Given the description of an element on the screen output the (x, y) to click on. 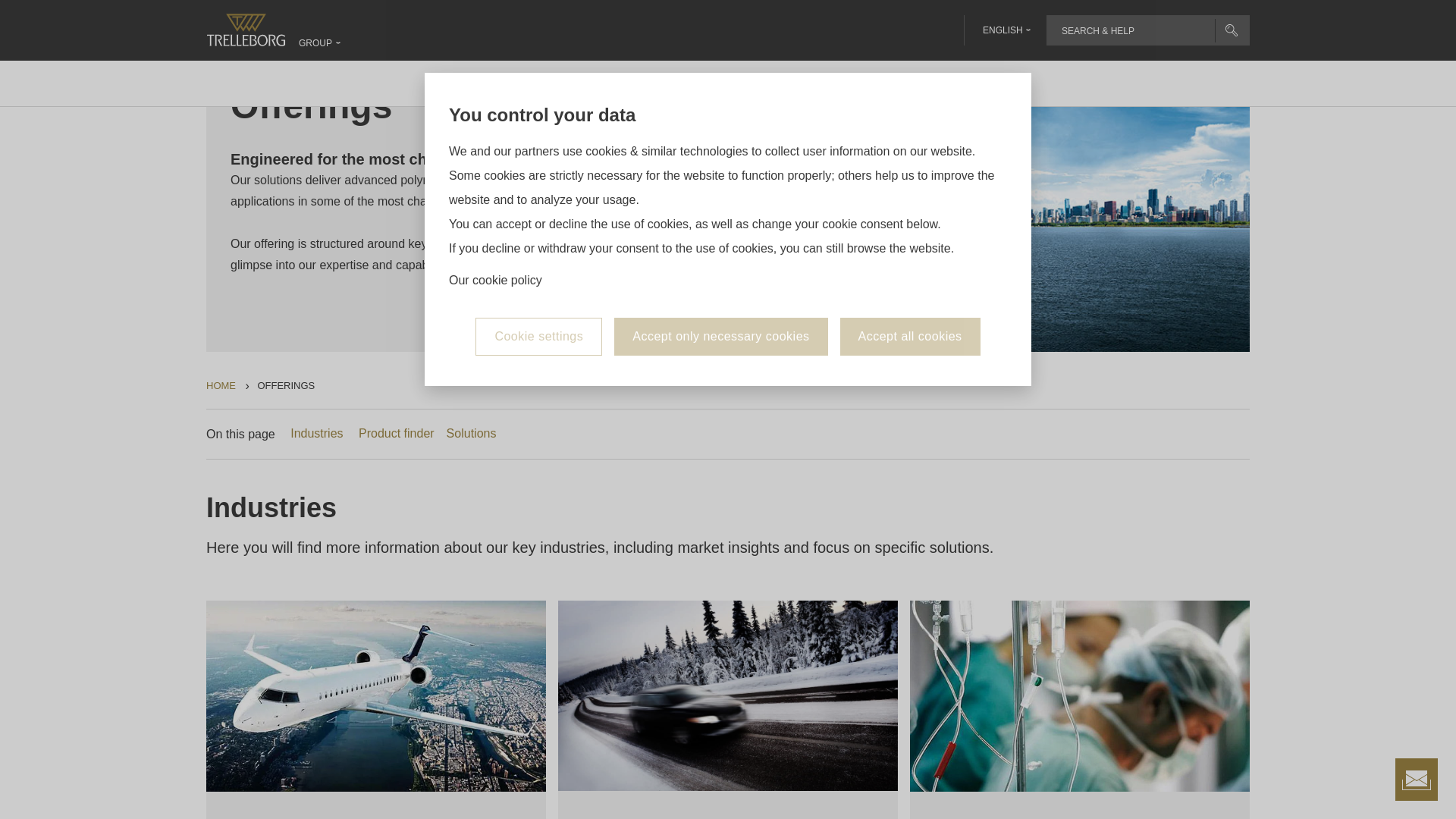
Accept only necessary cookies (720, 230)
Cookie settings (539, 230)
Our cookie policy (494, 174)
Accept all cookies (909, 230)
